Given the description of an element on the screen output the (x, y) to click on. 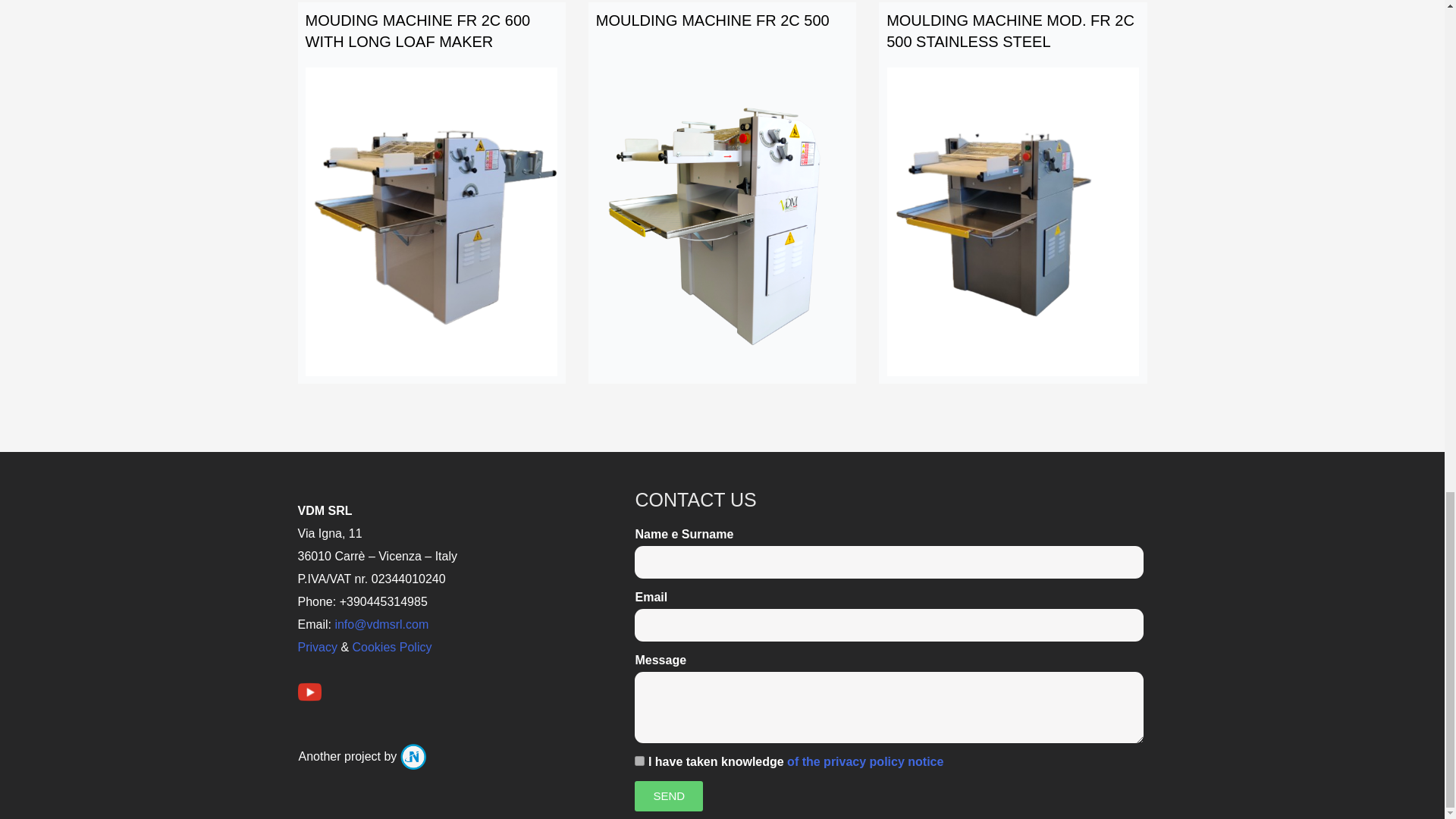
on (639, 760)
